Given the description of an element on the screen output the (x, y) to click on. 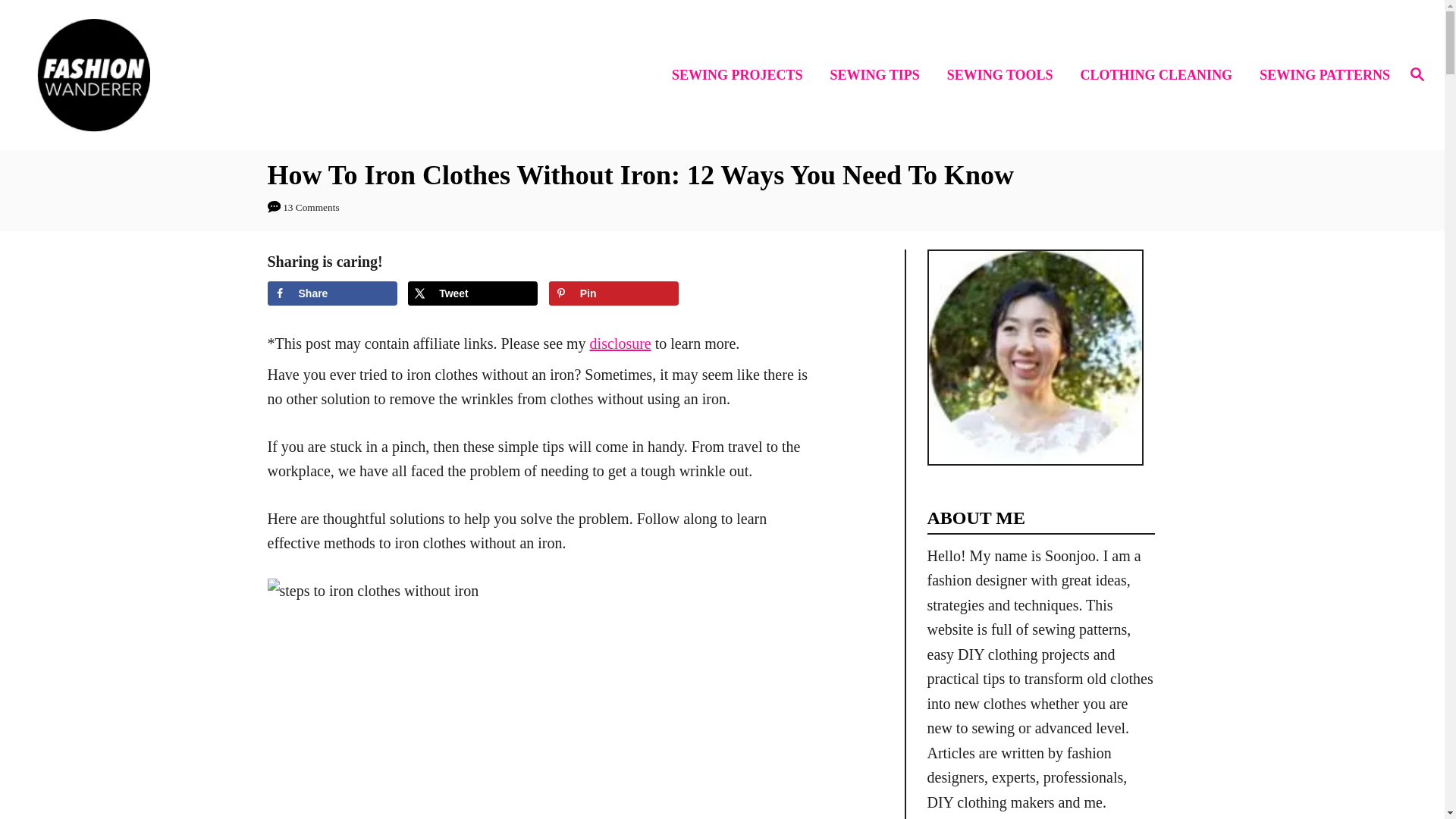
SEWING PATTERNS (1320, 75)
SEWING TOOLS (1004, 75)
Share (331, 293)
disclosure (619, 343)
Share on Facebook (331, 293)
steps to iron clothes without iron (460, 698)
Save to Pinterest (613, 293)
Magnifying Glass (1416, 74)
SEWING PROJECTS (741, 75)
SEWING TIPS (879, 75)
Tweet (472, 293)
Share on X (472, 293)
Fashion Wanderer (204, 74)
Pin (613, 293)
CLOTHING CLEANING (1160, 75)
